Given the description of an element on the screen output the (x, y) to click on. 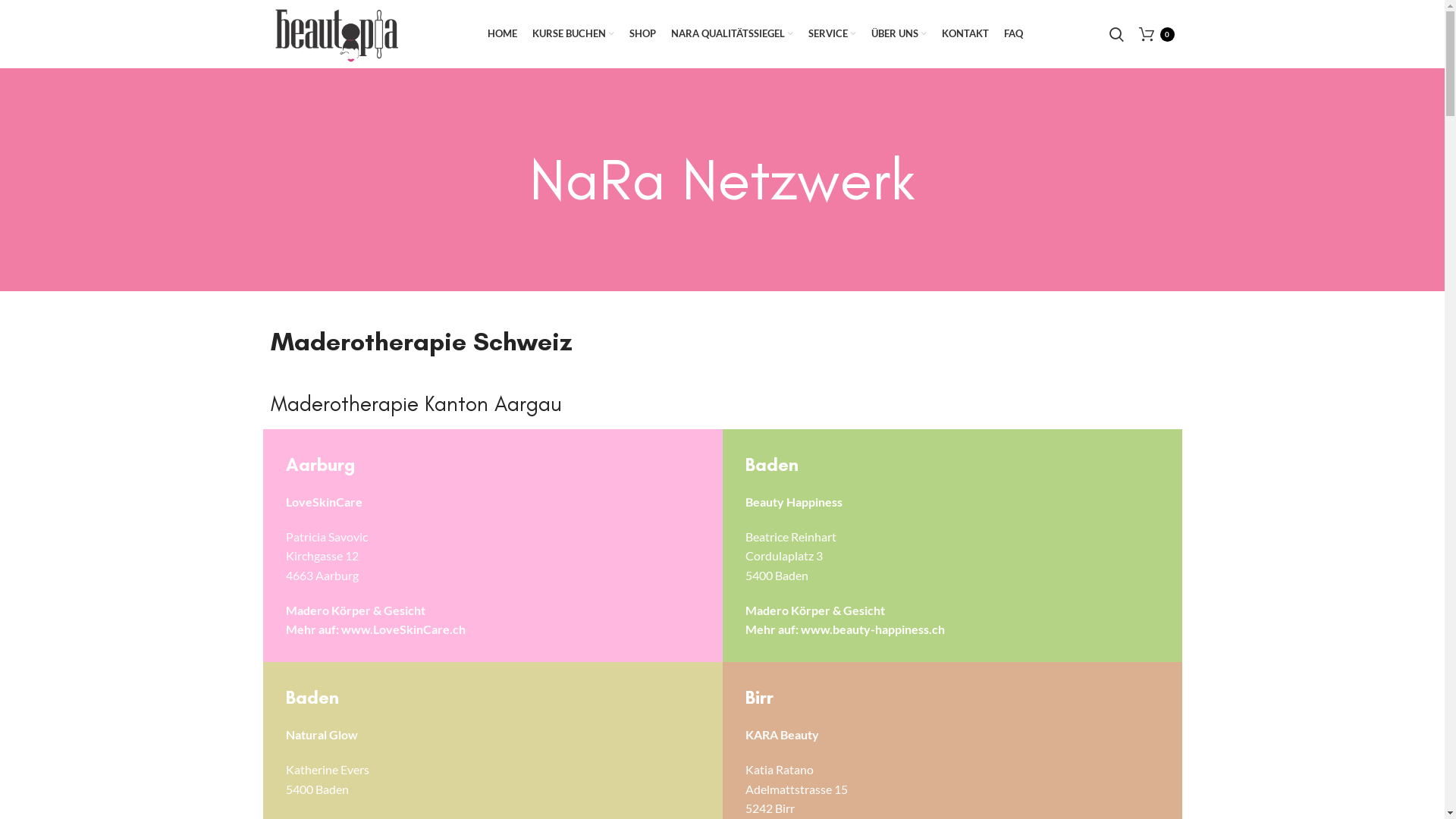
www.beauty-happiness.ch Element type: text (872, 628)
KONTAKT Element type: text (965, 33)
HOME Element type: text (502, 33)
FAQ Element type: text (1013, 33)
SHOP Element type: text (642, 33)
Search Element type: hover (1115, 33)
www.LoveSkinCare.ch Element type: text (403, 628)
KURSE BUCHEN Element type: text (572, 33)
SERVICE Element type: text (831, 33)
0 Element type: text (1156, 33)
